Given the description of an element on the screen output the (x, y) to click on. 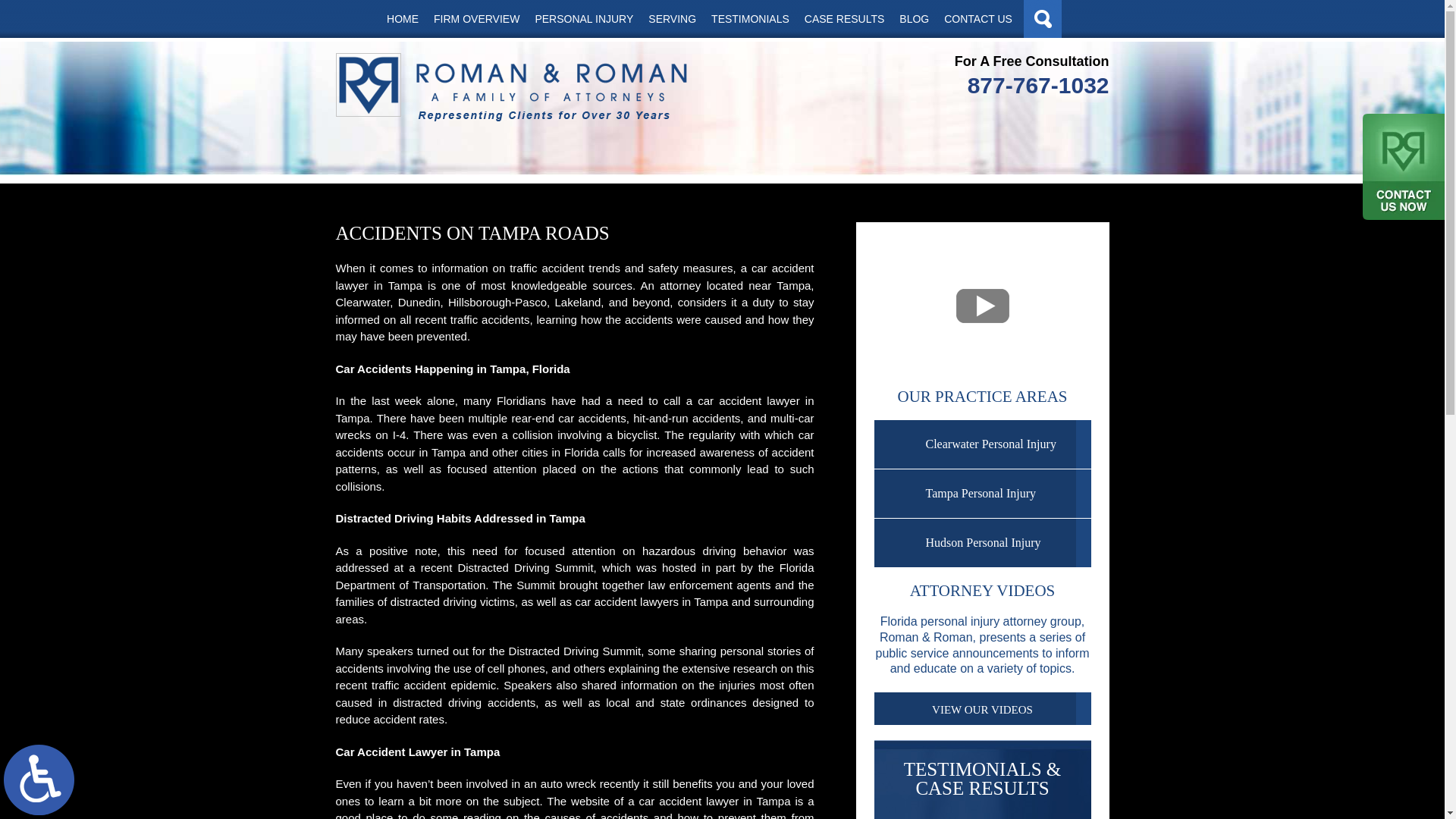
TESTIMONIALS (749, 18)
PERSONAL INJURY (583, 18)
SERVING (671, 18)
BLOG (913, 18)
HOME (402, 18)
877-767-1032 (1032, 84)
CONTACT US (978, 18)
FIRM OVERVIEW (476, 18)
CASE RESULTS (844, 18)
